Given the description of an element on the screen output the (x, y) to click on. 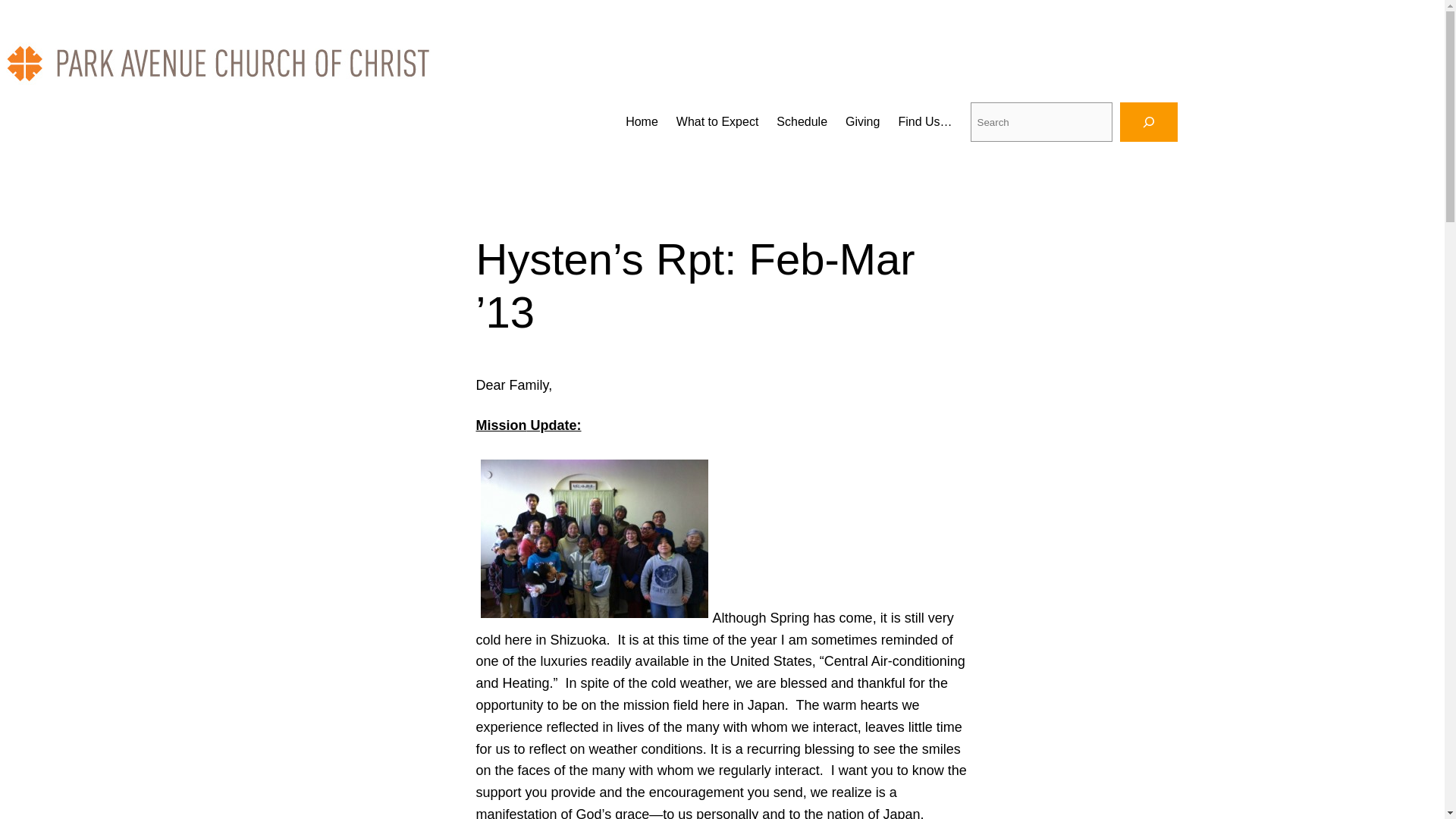
Giving (862, 121)
35A (594, 538)
Schedule (801, 121)
Home (642, 121)
What to Expect (717, 121)
